Given the description of an element on the screen output the (x, y) to click on. 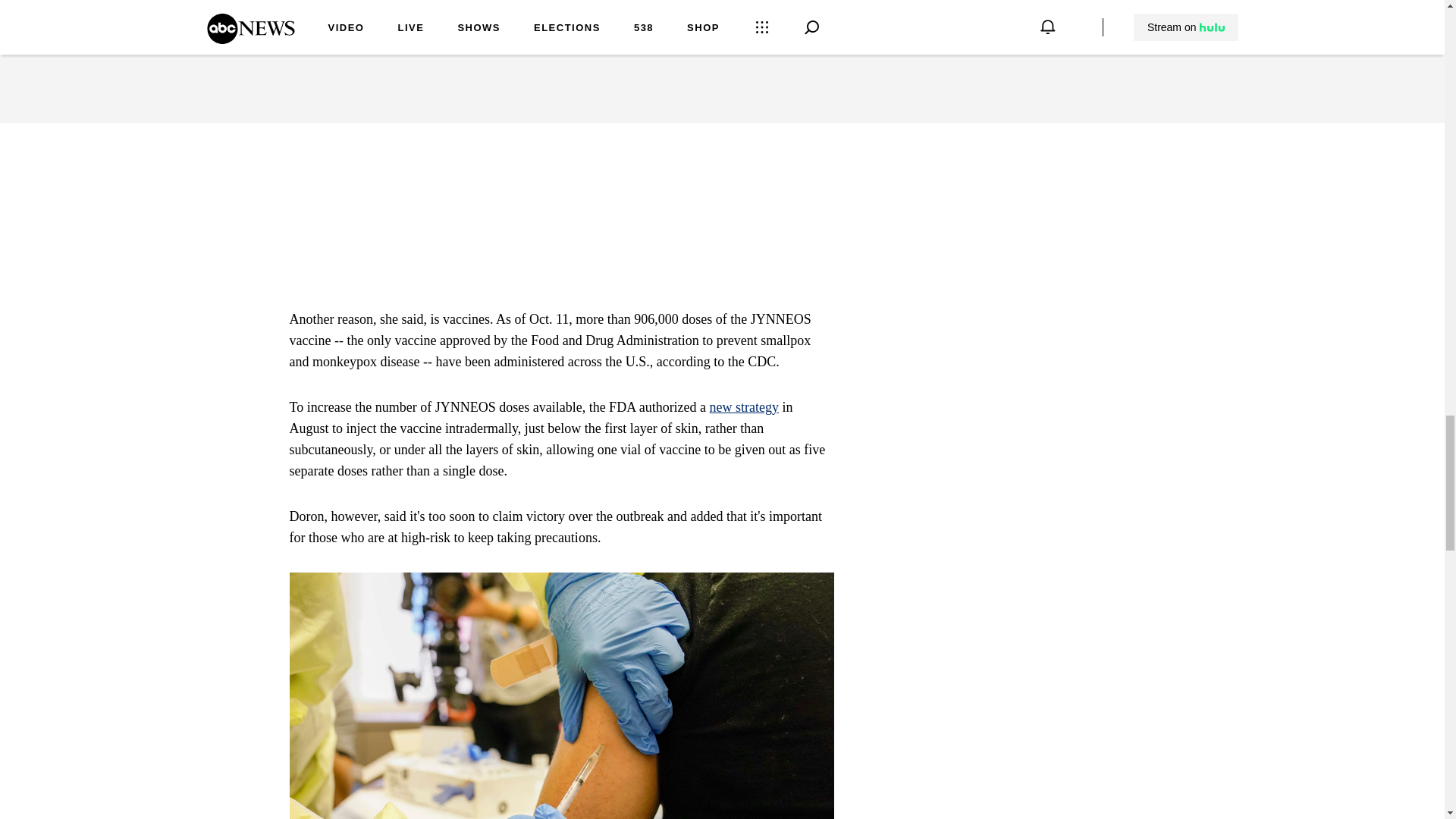
new strategy (744, 406)
